Given the description of an element on the screen output the (x, y) to click on. 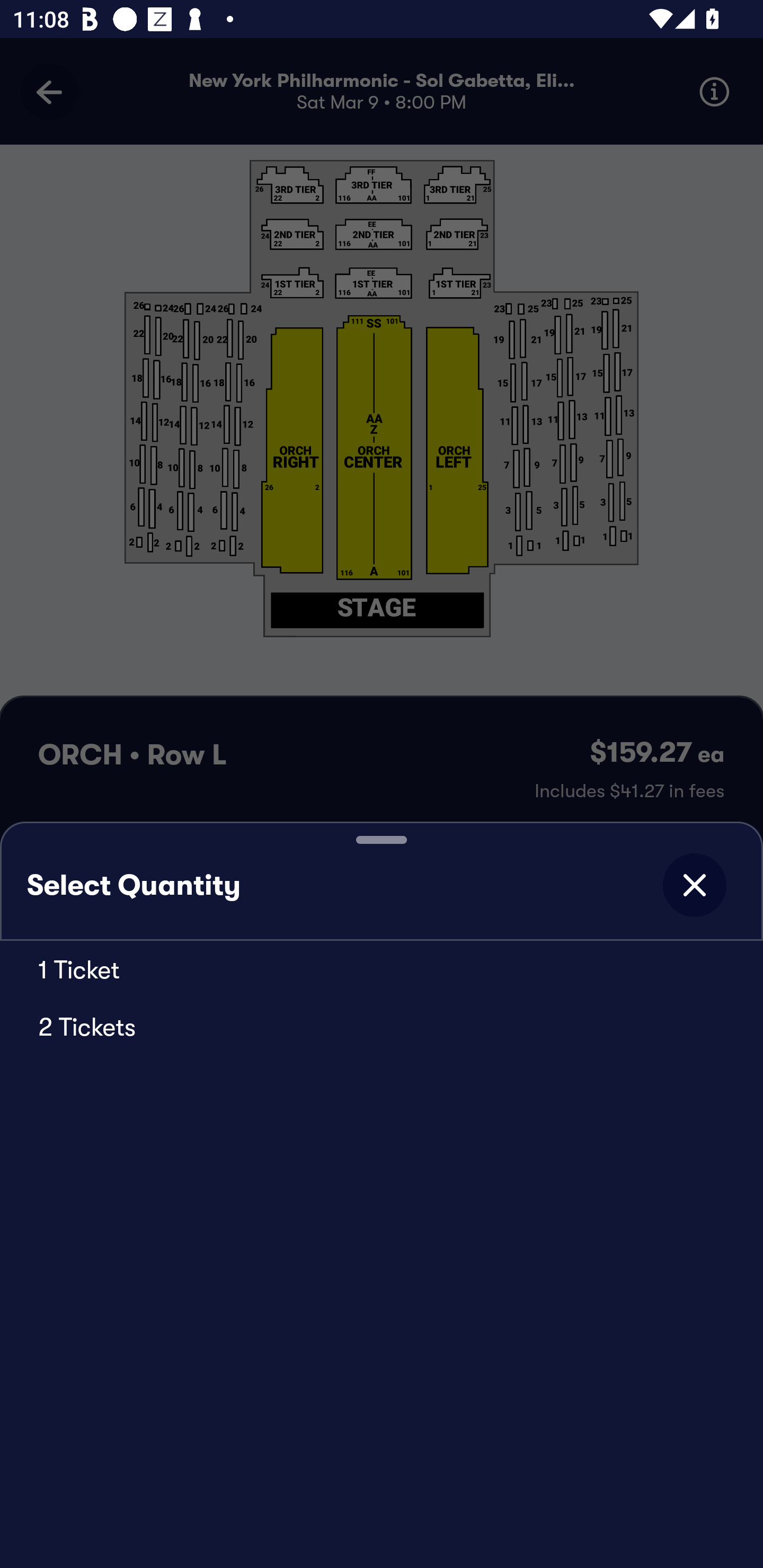
close (694, 884)
1 Ticket (381, 968)
2 Tickets (381, 1026)
